Given the description of an element on the screen output the (x, y) to click on. 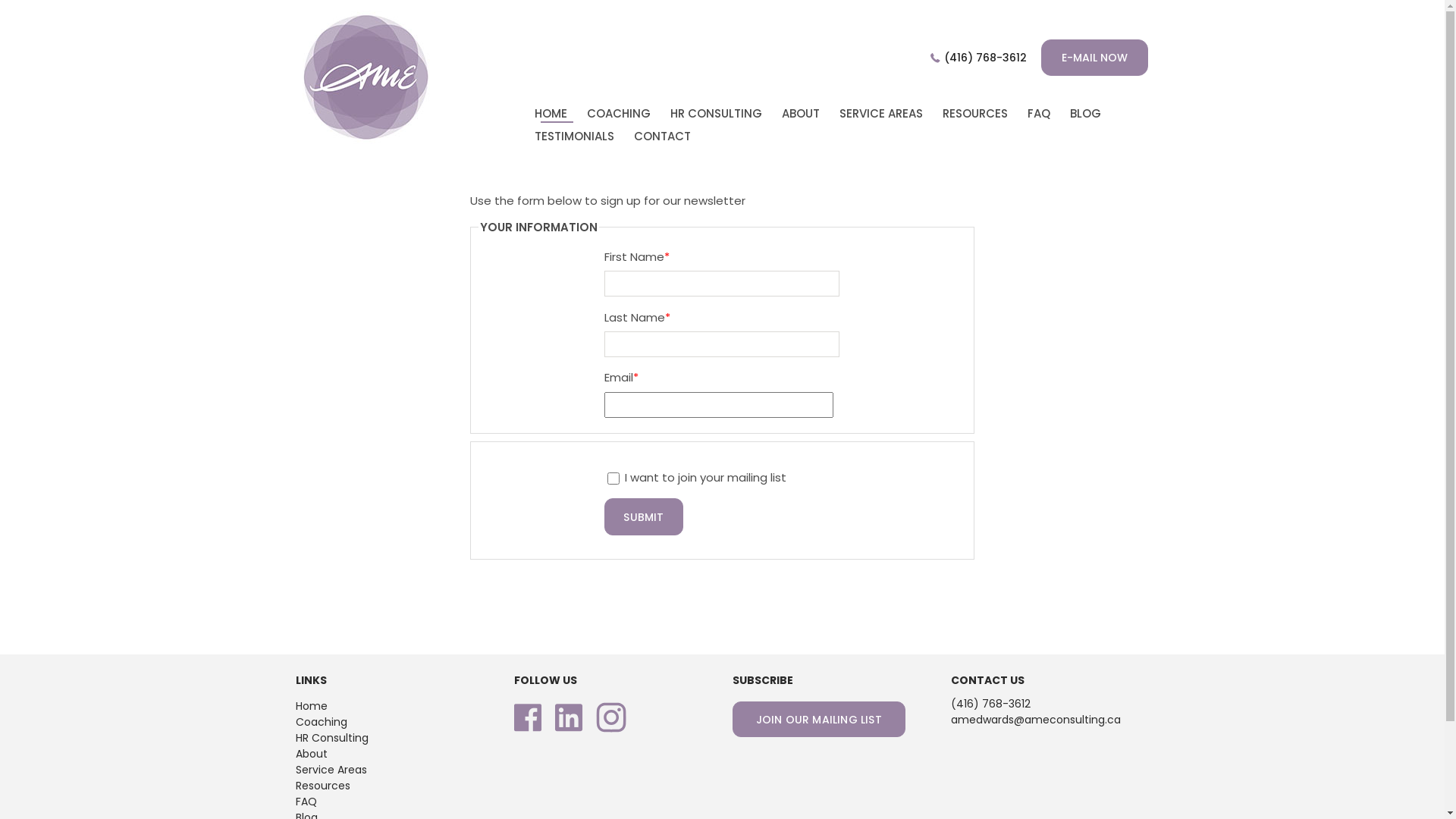
E-MAIL NOW Element type: text (1094, 57)
(416) 768-3612 Element type: text (990, 703)
About Element type: text (311, 753)
JOIN OUR MAILING LIST Element type: text (818, 719)
ABOUT Element type: text (800, 113)
HOME Element type: text (550, 113)
FAQ Element type: text (1038, 113)
Resources Element type: text (322, 785)
(416) 768-3612 Element type: text (984, 57)
Home Element type: text (311, 705)
Coaching Element type: text (321, 721)
COACHING Element type: text (618, 113)
TESTIMONIALS Element type: text (574, 136)
HR CONSULTING Element type: text (716, 113)
BLOG Element type: text (1085, 113)
amedwards@ameconsulting.ca Element type: text (1035, 719)
FAQ Element type: text (305, 801)
RESOURCES Element type: text (974, 113)
Submit Element type: text (643, 516)
Service Areas Element type: text (331, 769)
CONTACT Element type: text (661, 136)
HR Consulting Element type: text (331, 737)
SERVICE AREAS Element type: text (880, 113)
